Given the description of an element on the screen output the (x, y) to click on. 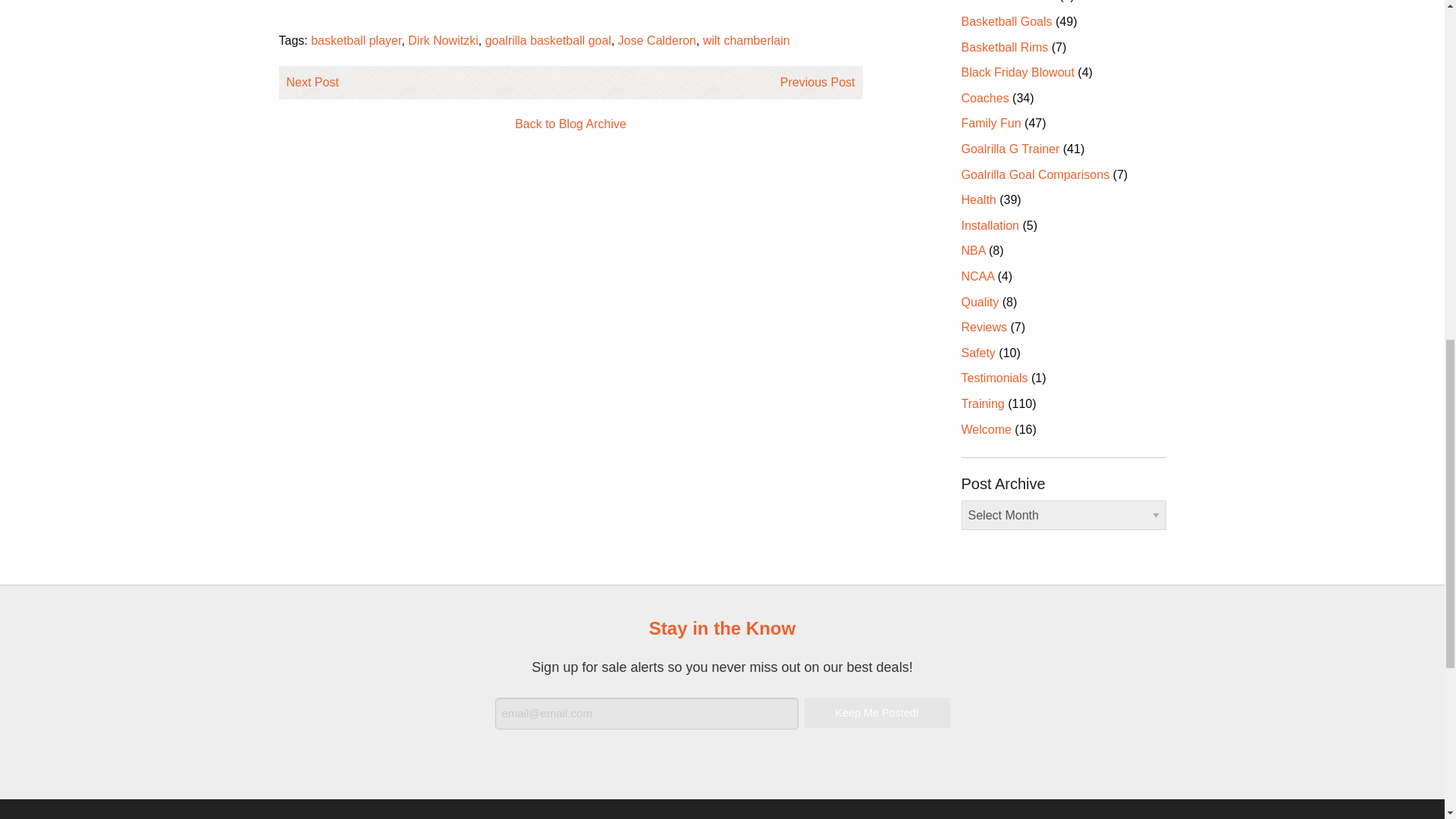
Keep Me Posted! (876, 712)
